Given the description of an element on the screen output the (x, y) to click on. 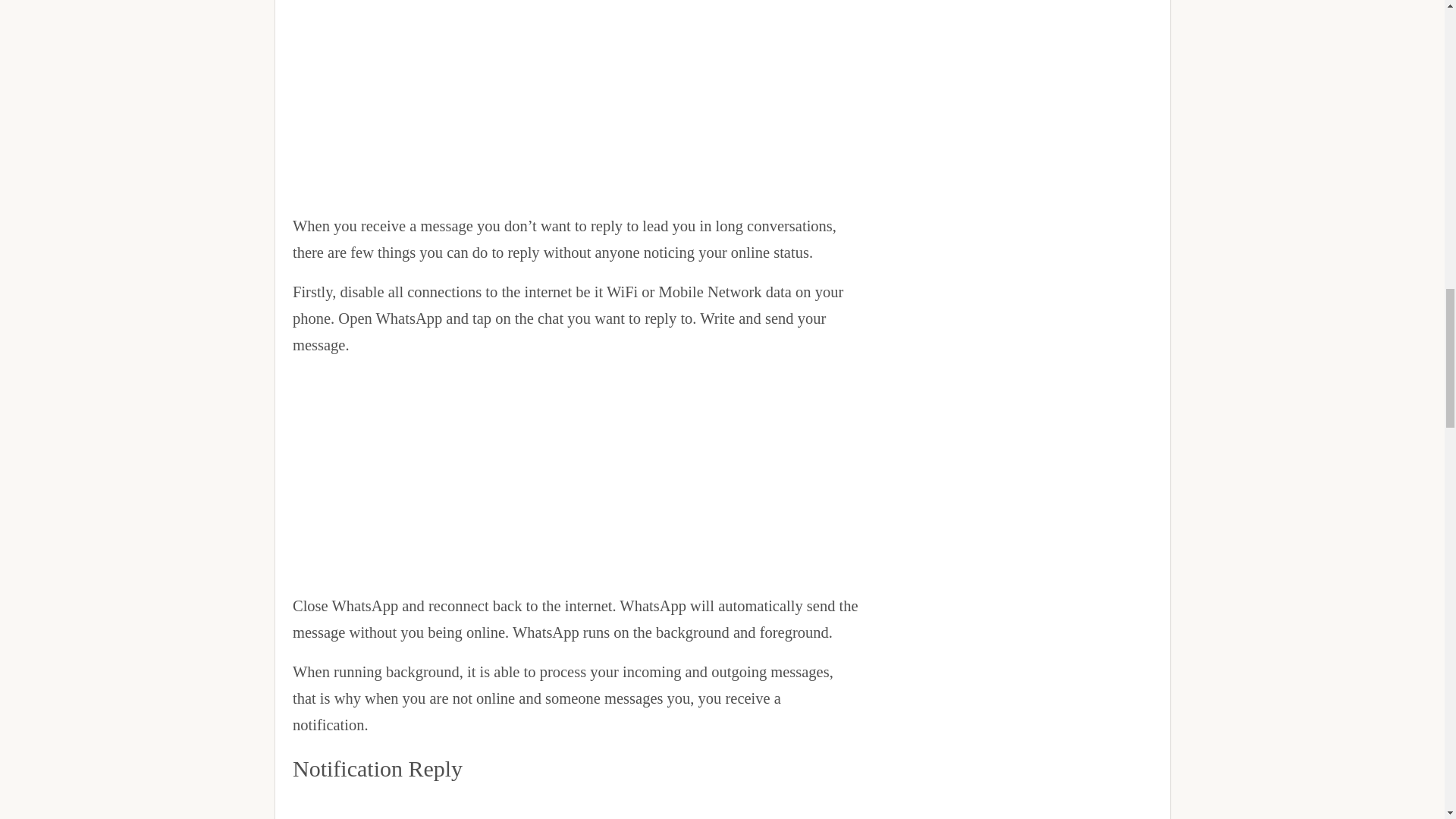
Advertisement (575, 101)
Advertisement (575, 805)
Advertisement (575, 477)
